Given the description of an element on the screen output the (x, y) to click on. 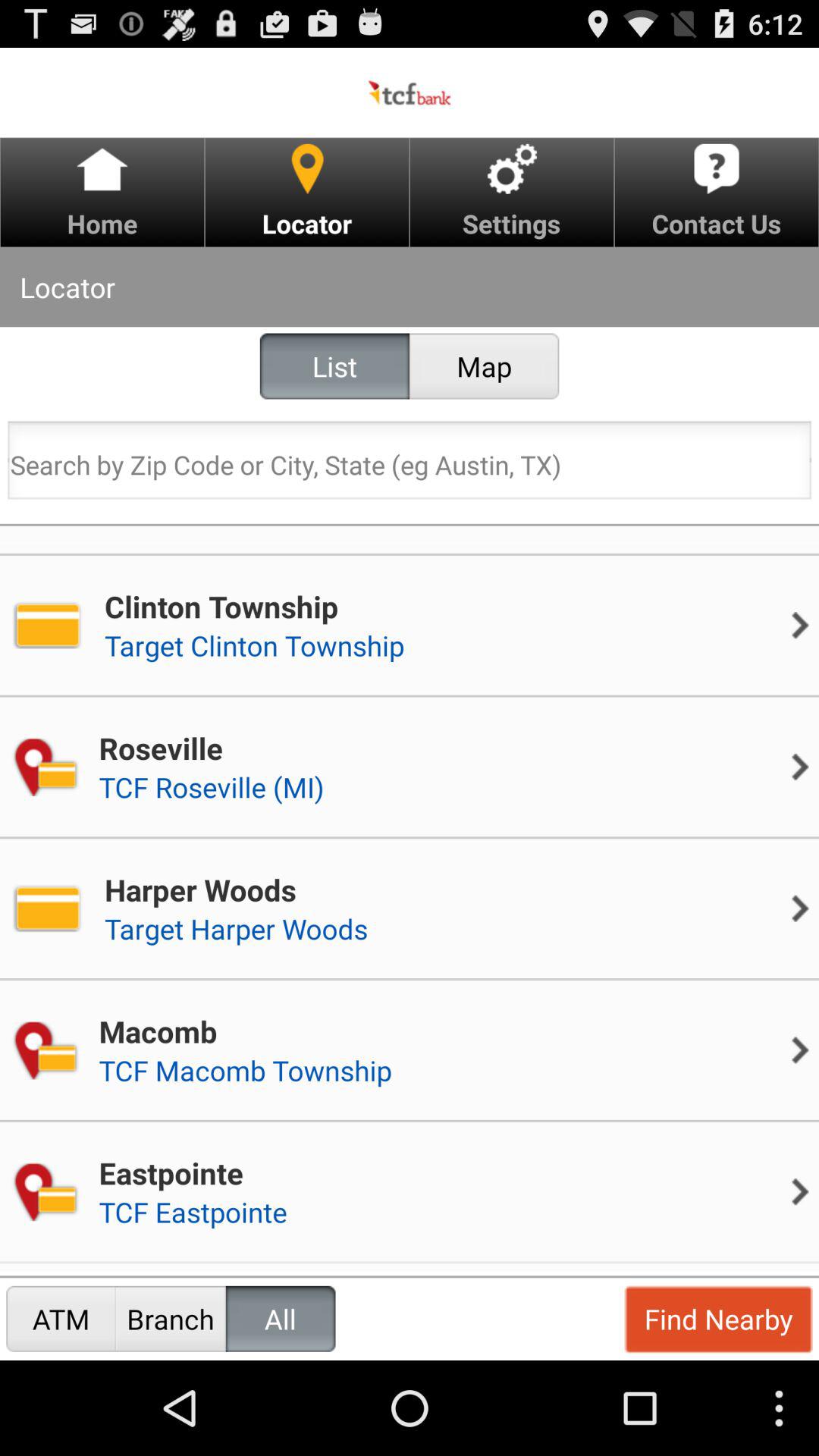
open the app below locator item (334, 366)
